Given the description of an element on the screen output the (x, y) to click on. 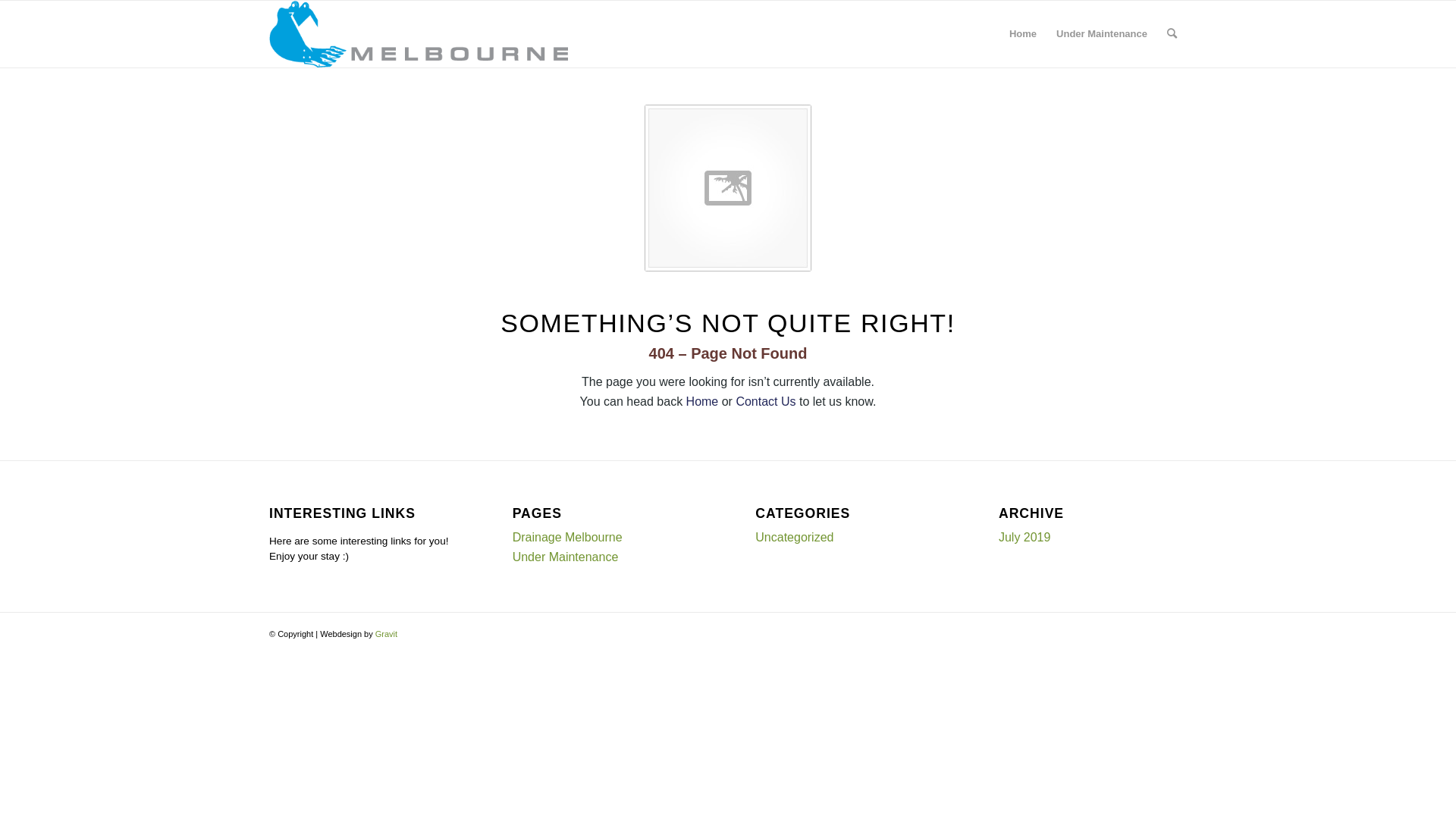
Drainage Melbourne Element type: text (567, 536)
DrainageMelbourne_Logo(CMYK-DBG) Element type: hover (418, 33)
July 2019 Element type: text (1024, 536)
Under Maintenance Element type: text (565, 556)
Home Element type: text (702, 401)
Contact Us Element type: text (765, 401)
Home Element type: text (1022, 33)
Gravit Element type: text (386, 633)
Uncategorized Element type: text (794, 536)
Under Maintenance Element type: text (1101, 33)
